Given the description of an element on the screen output the (x, y) to click on. 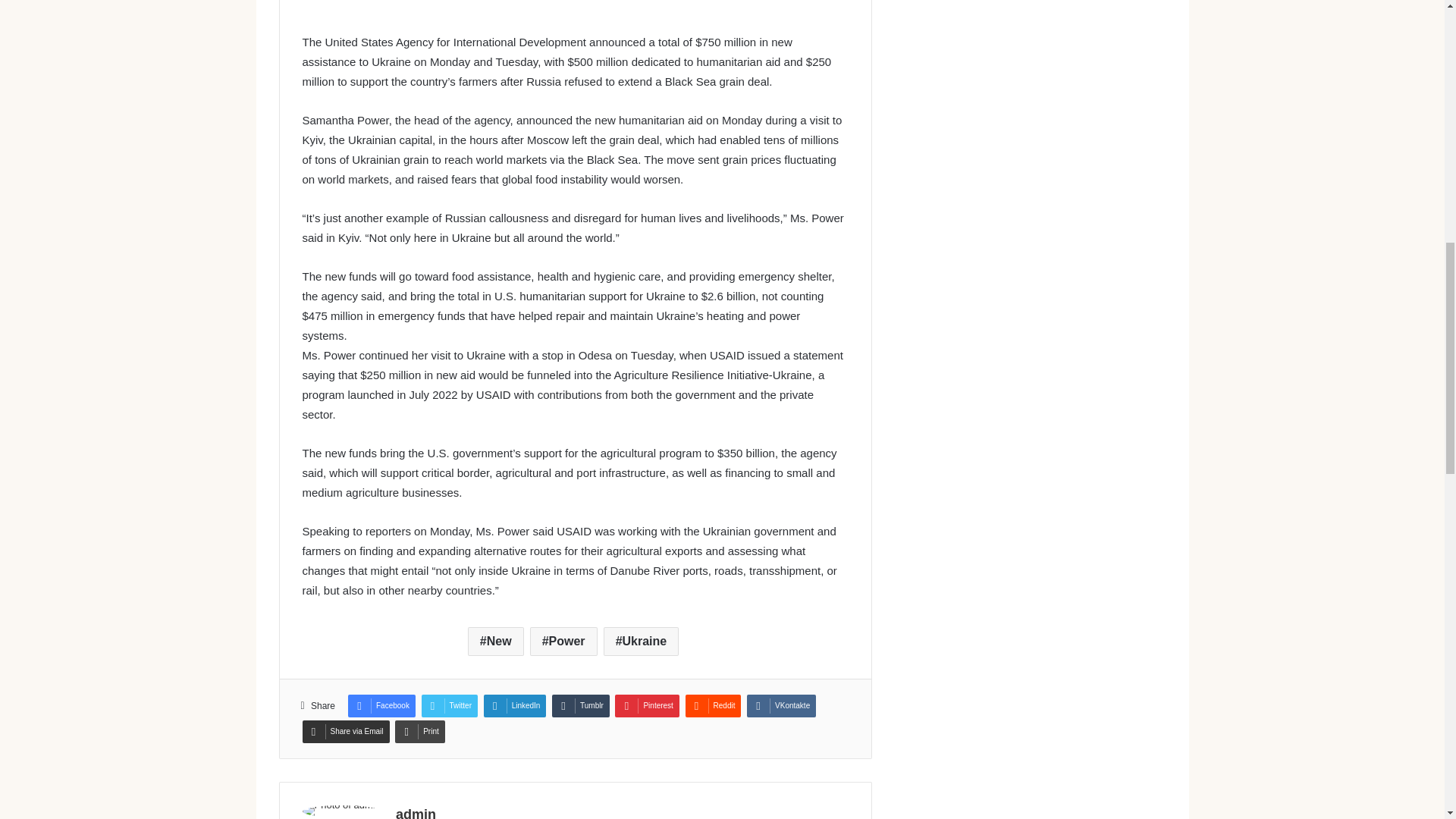
Print (419, 731)
Pinterest (646, 705)
New (495, 641)
Ukraine (641, 641)
VKontakte (780, 705)
LinkedIn (515, 705)
Facebook (380, 705)
admin (415, 812)
Reddit (713, 705)
Twitter (449, 705)
